Given the description of an element on the screen output the (x, y) to click on. 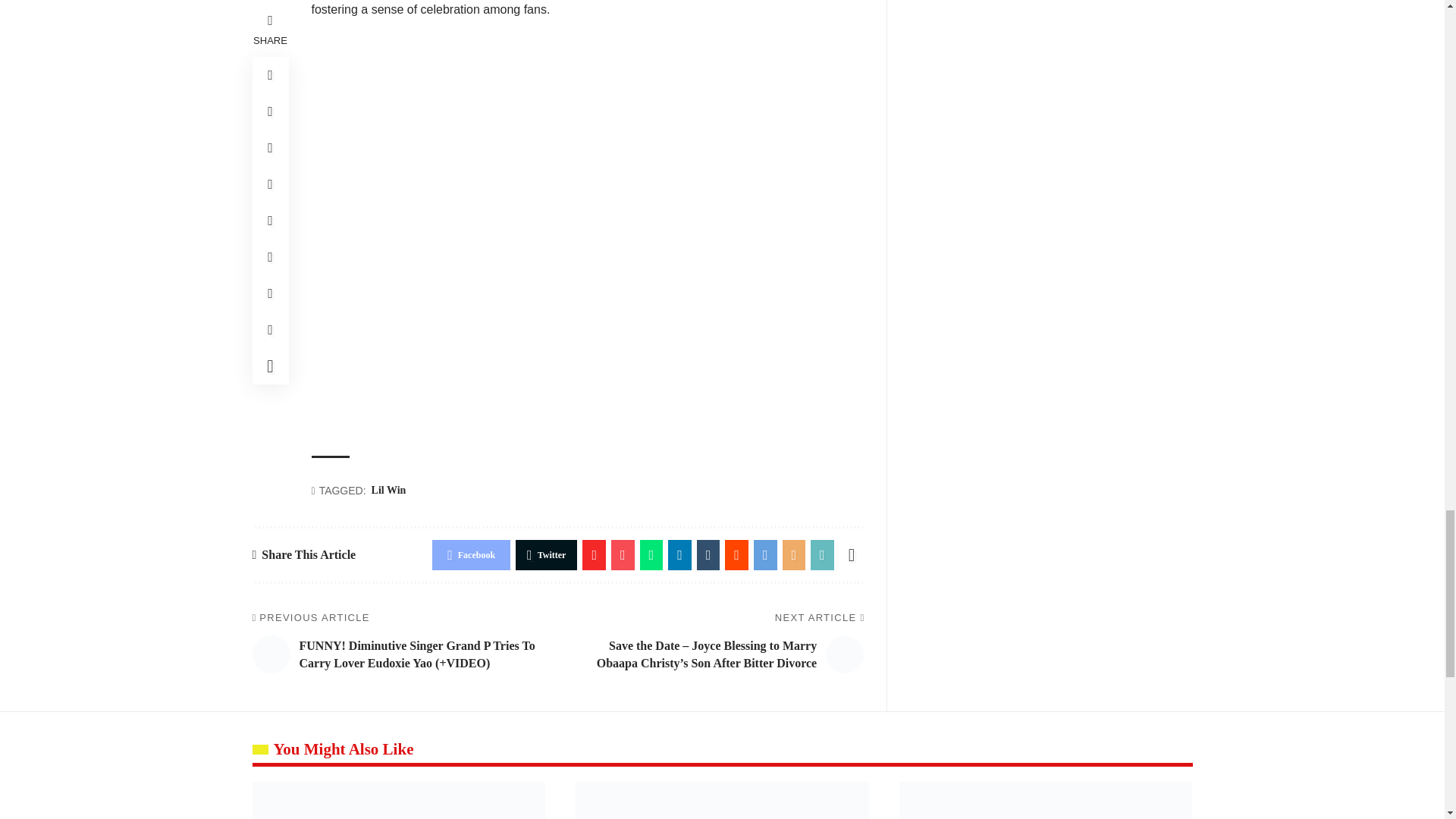
Vybez Kartel freed from prison after 14 years (722, 800)
